Given the description of an element on the screen output the (x, y) to click on. 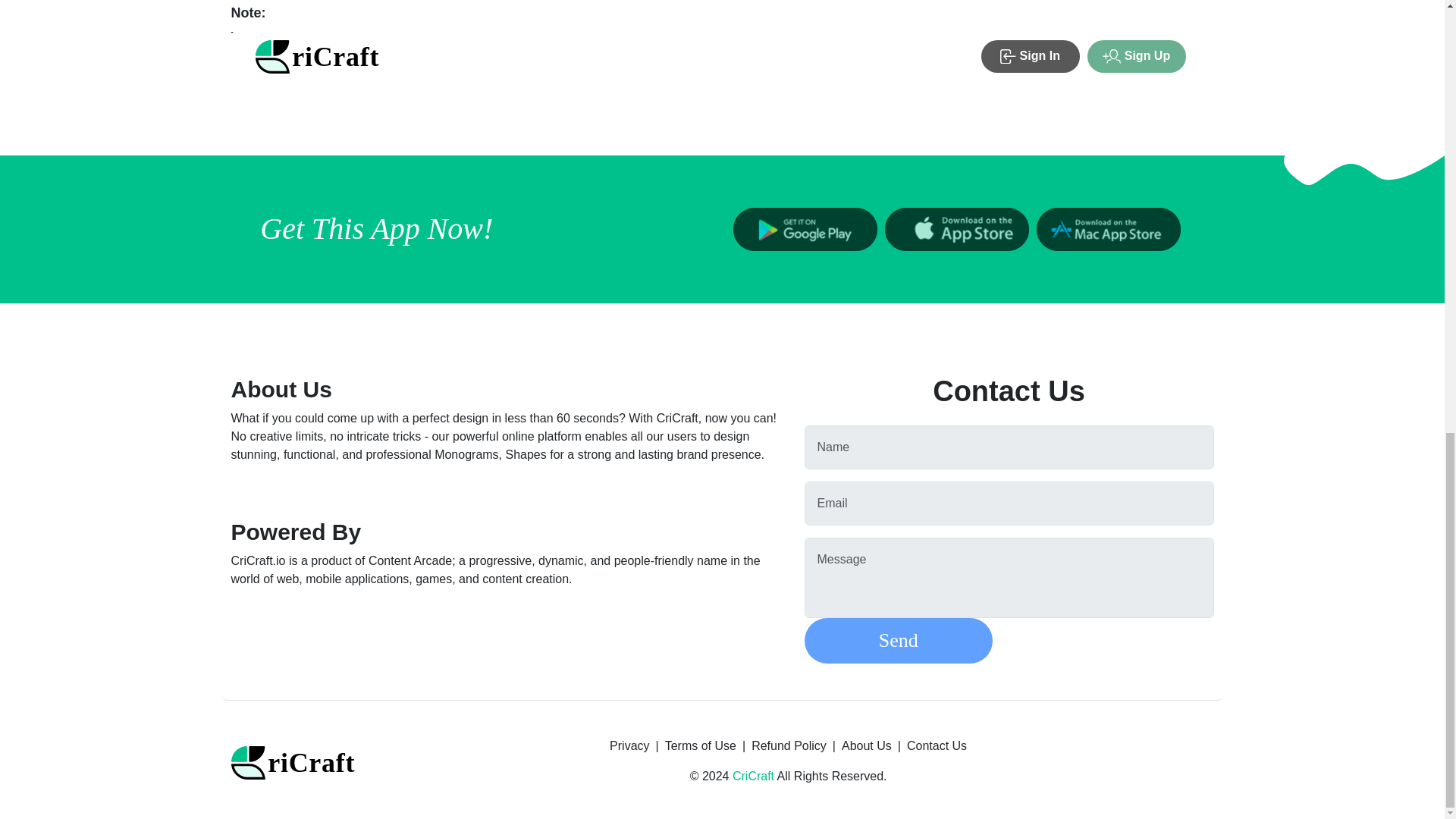
Send (897, 640)
riCraft (296, 761)
CriCraft (753, 775)
Contact Us (936, 752)
riCraft (296, 762)
